Given the description of an element on the screen output the (x, y) to click on. 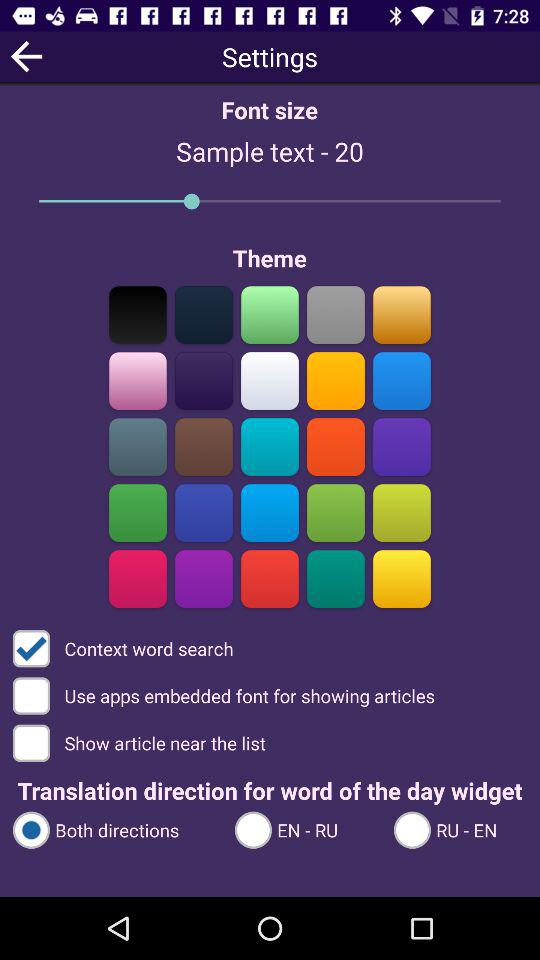
select the color of theme (203, 314)
